Given the description of an element on the screen output the (x, y) to click on. 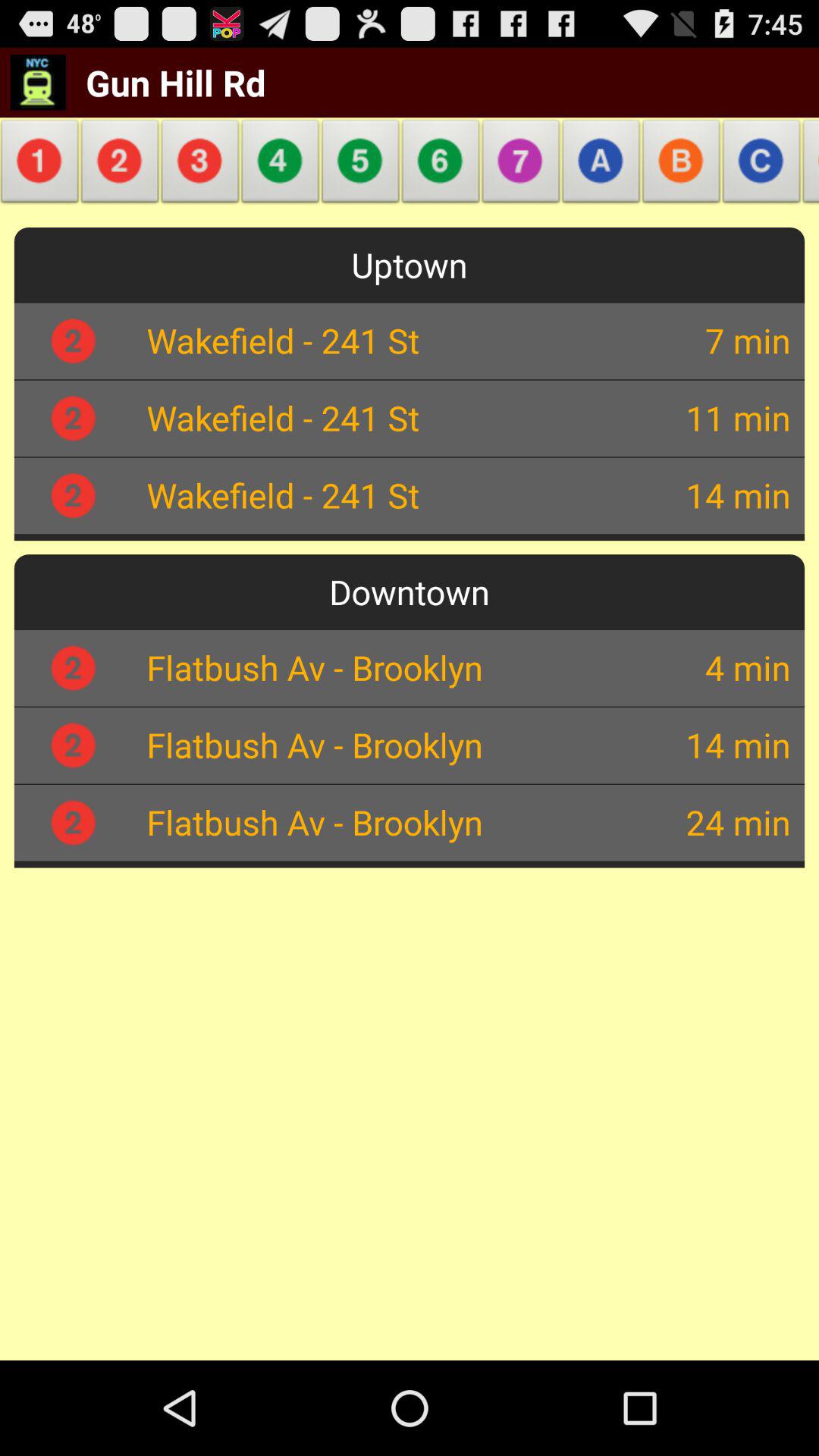
scroll to the downtown (409, 591)
